Given the description of an element on the screen output the (x, y) to click on. 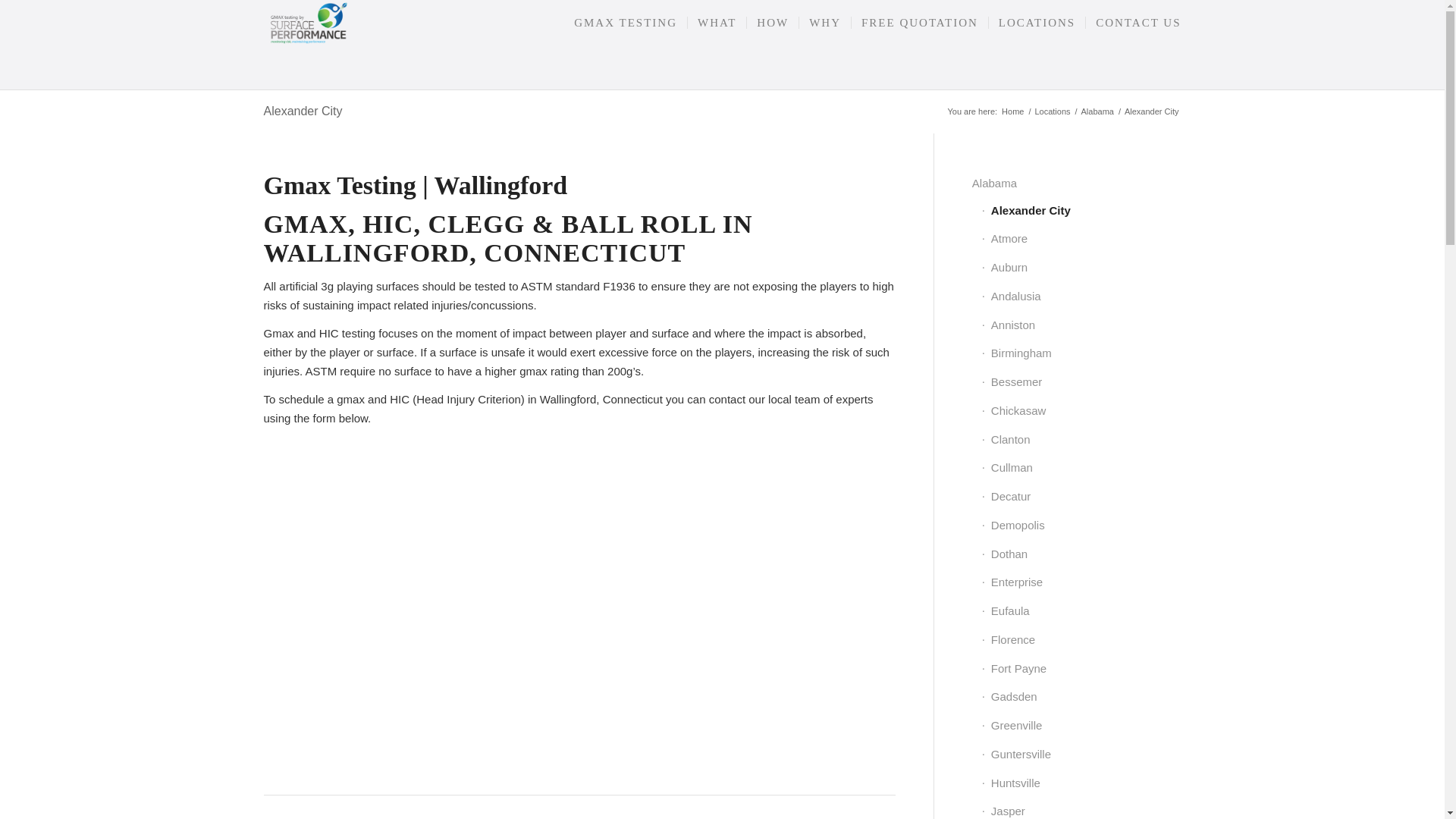
Locations (1051, 111)
Florence (1080, 640)
Chickasaw (1080, 411)
Demopolis (1080, 525)
Auburn (1080, 267)
Eufaula (1080, 611)
Permanent Link: Alexander City (302, 110)
Gmax Testing (1012, 111)
Decatur (1080, 497)
Dothan (1080, 554)
CONTACT US (1132, 22)
Cullman (1080, 468)
LOCATIONS (1036, 22)
Alexander City (302, 110)
Birmingham (1080, 353)
